Given the description of an element on the screen output the (x, y) to click on. 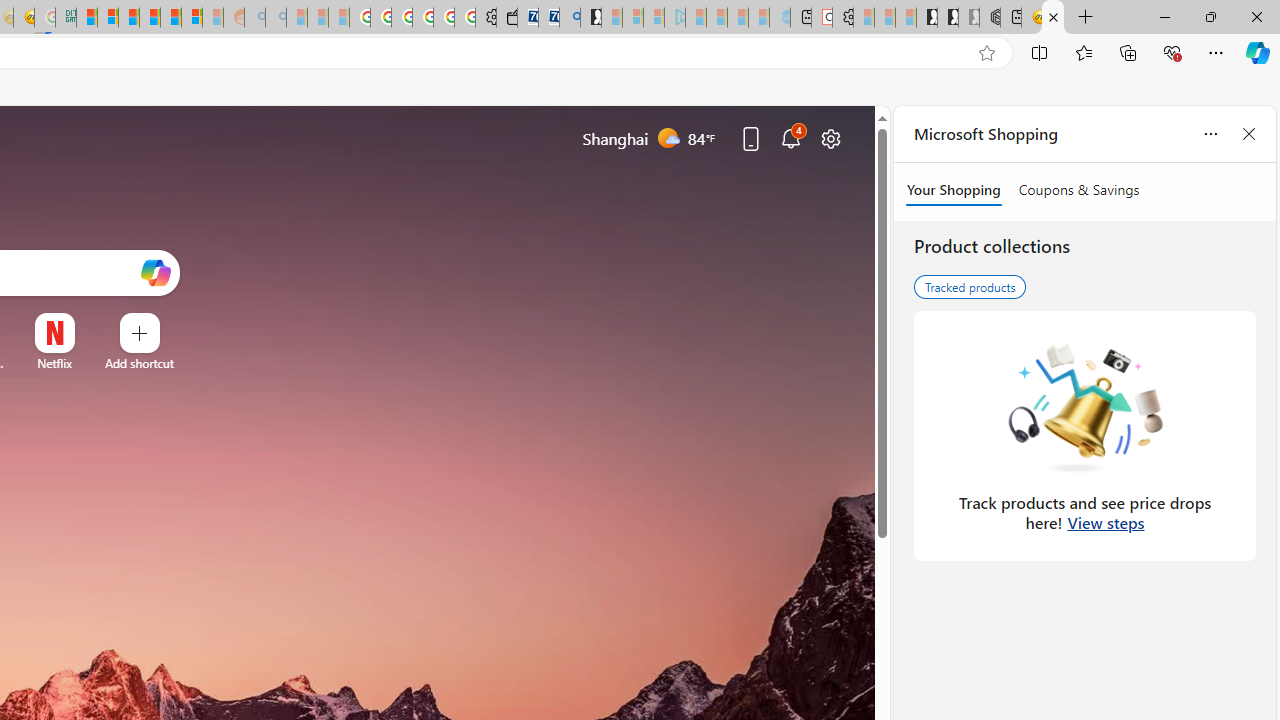
Bing Real Estate - Home sales and rental listings (569, 17)
